Given the description of an element on the screen output the (x, y) to click on. 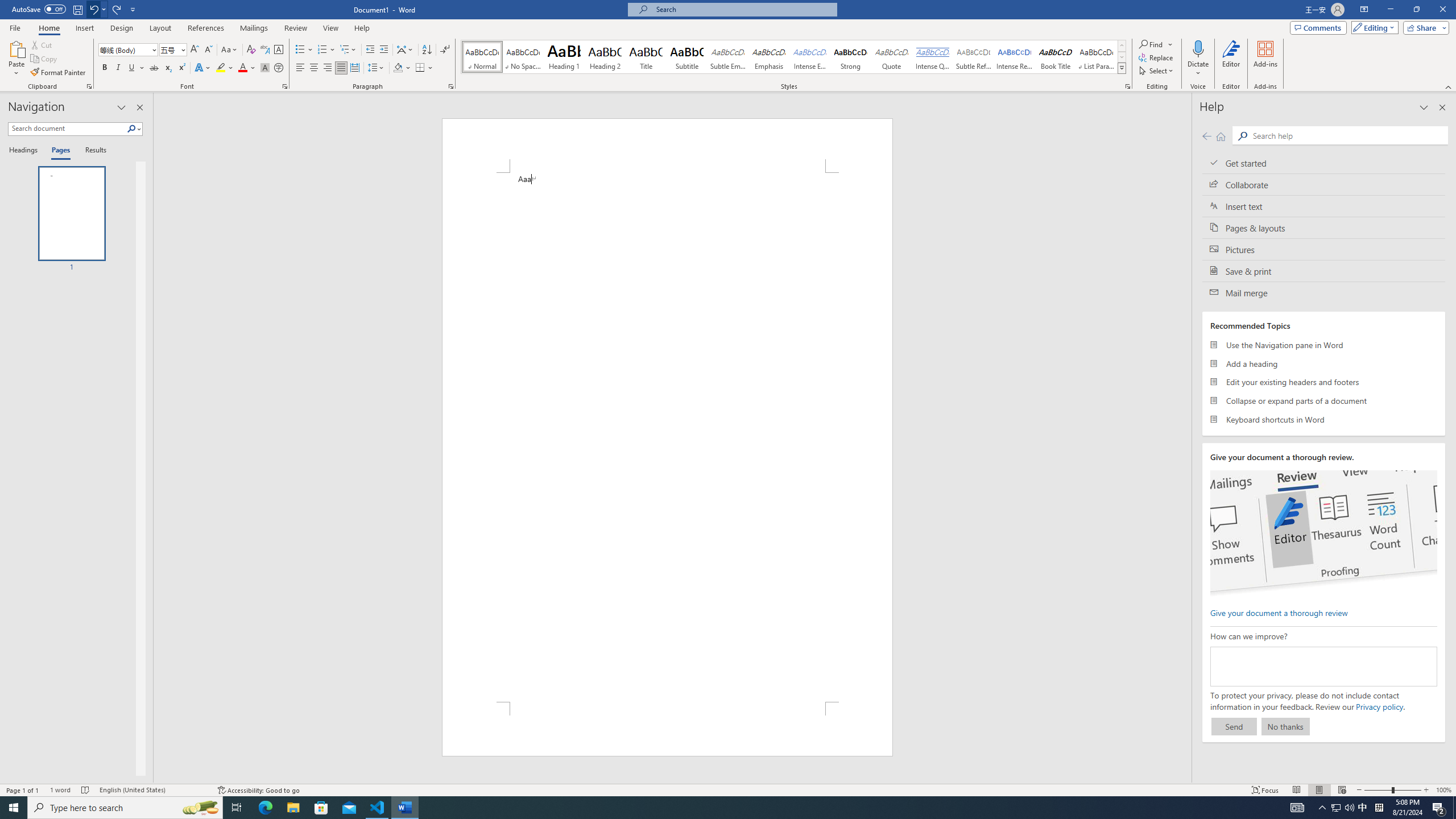
Layout (160, 28)
Pictures (1323, 249)
Class: NetUIScrollBar (1186, 437)
Font... (285, 85)
Multilevel List (347, 49)
Align Left (300, 67)
Sort... (426, 49)
References (205, 28)
Subtle Reference (973, 56)
Previous page (1206, 136)
Character Shading (264, 67)
